Given the description of an element on the screen output the (x, y) to click on. 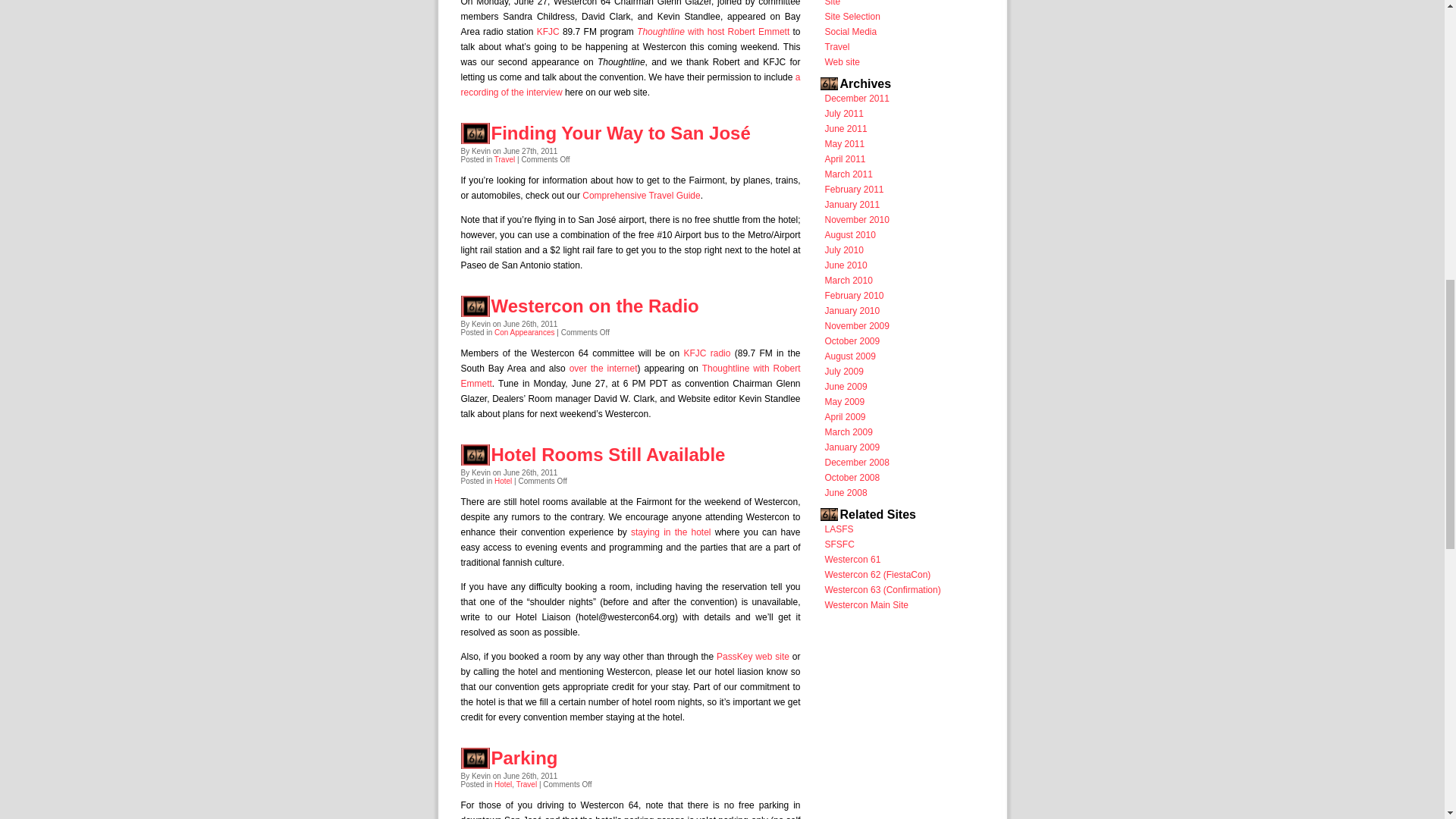
Thoughtline with host Robert Emmett (713, 31)
Thoughtline with Robert Emmett (630, 376)
KFJC (548, 31)
Hotel (503, 784)
Westercon on the Radio (595, 305)
Parking (524, 757)
Travel (505, 159)
staying in the hotel (670, 532)
Con Appearances (524, 332)
PassKey web site (752, 656)
